Given the description of an element on the screen output the (x, y) to click on. 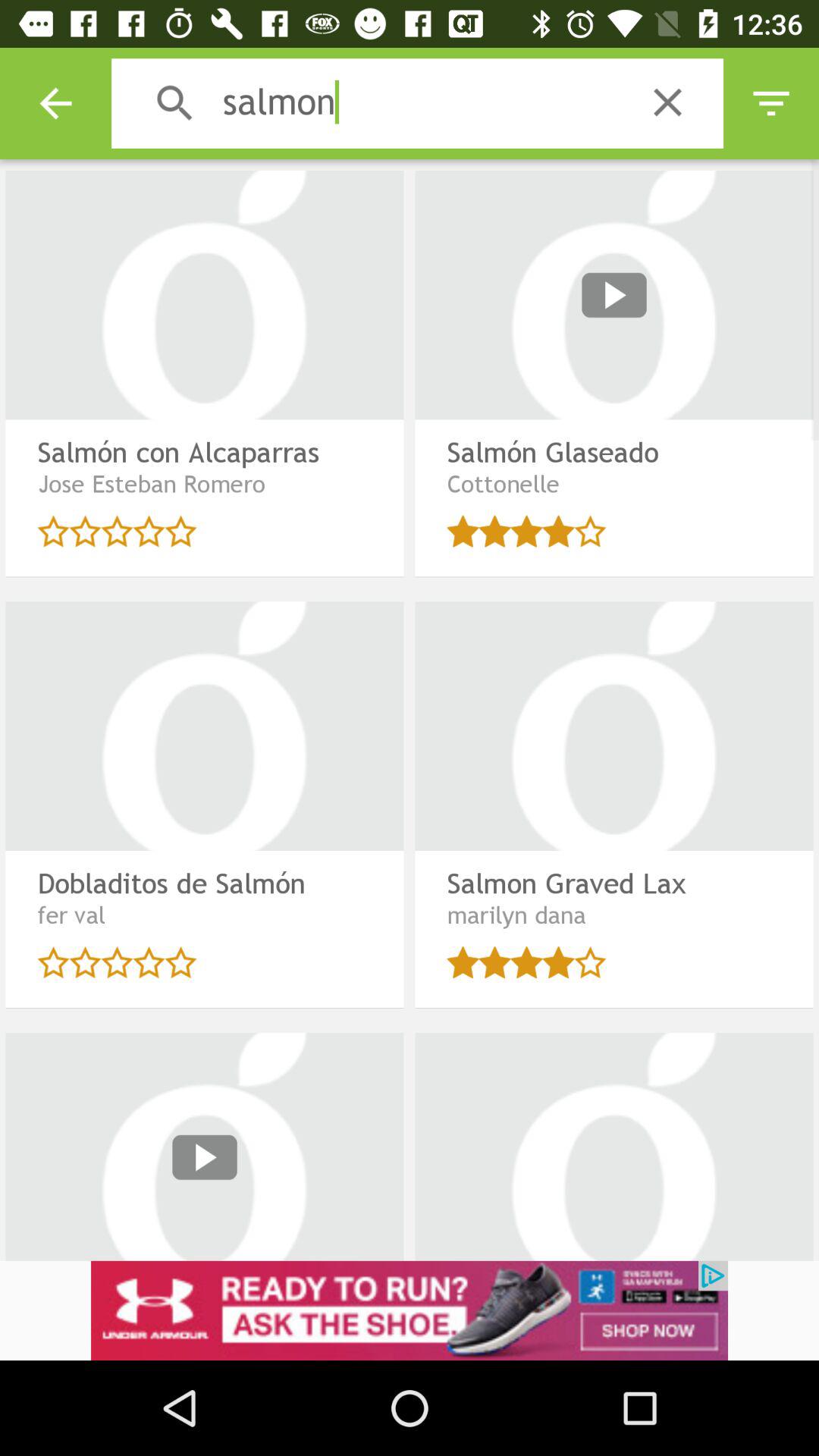
advertisement area (409, 1310)
